Given the description of an element on the screen output the (x, y) to click on. 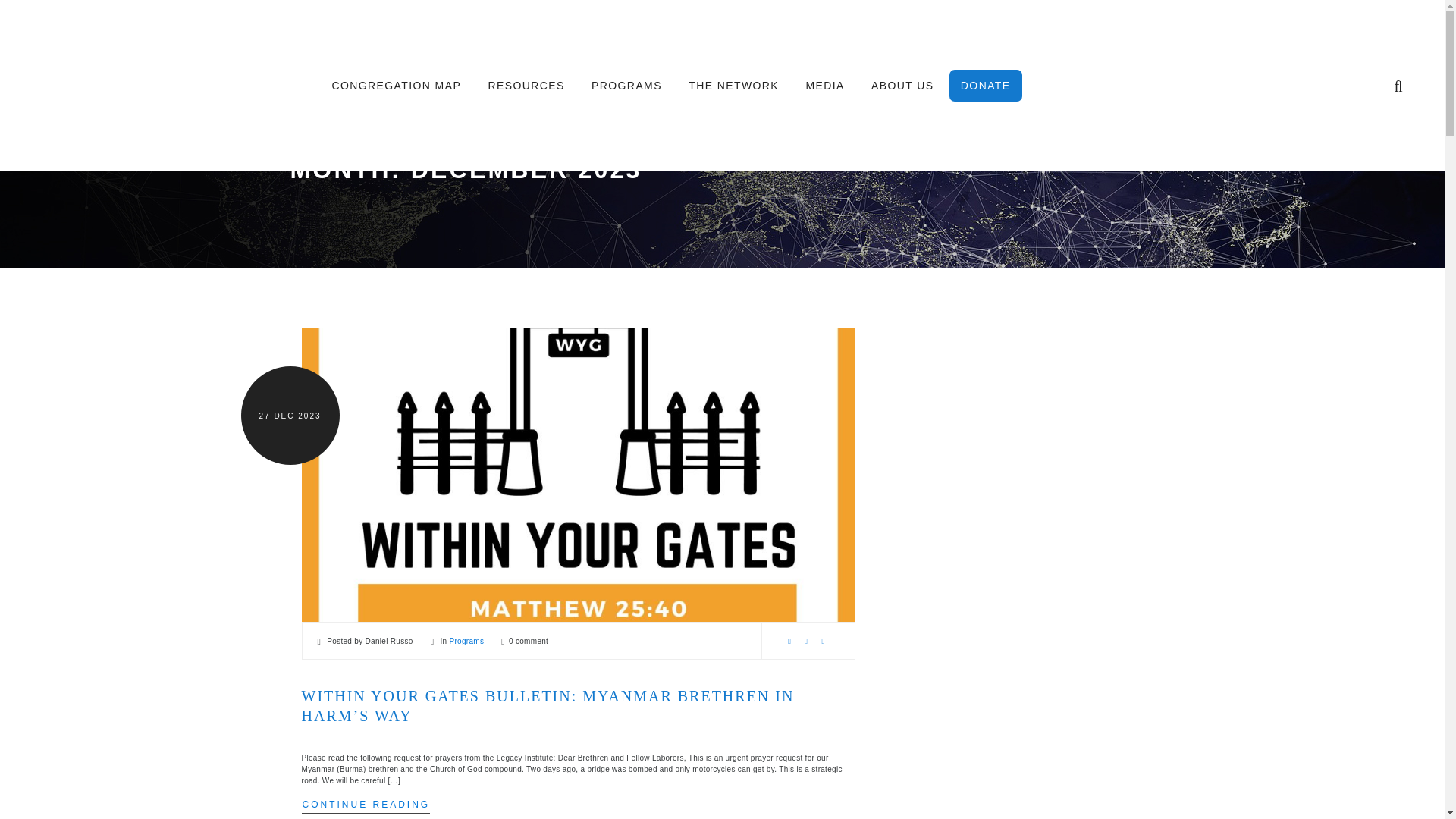
CONTINUE READING (365, 803)
DONATE (985, 85)
CONGREGATION MAP (396, 84)
THE NETWORK (733, 84)
Programs (465, 641)
MEDIA (824, 84)
ABOUT US (902, 84)
PROGRAMS (626, 84)
RESOURCES (525, 84)
